Given the description of an element on the screen output the (x, y) to click on. 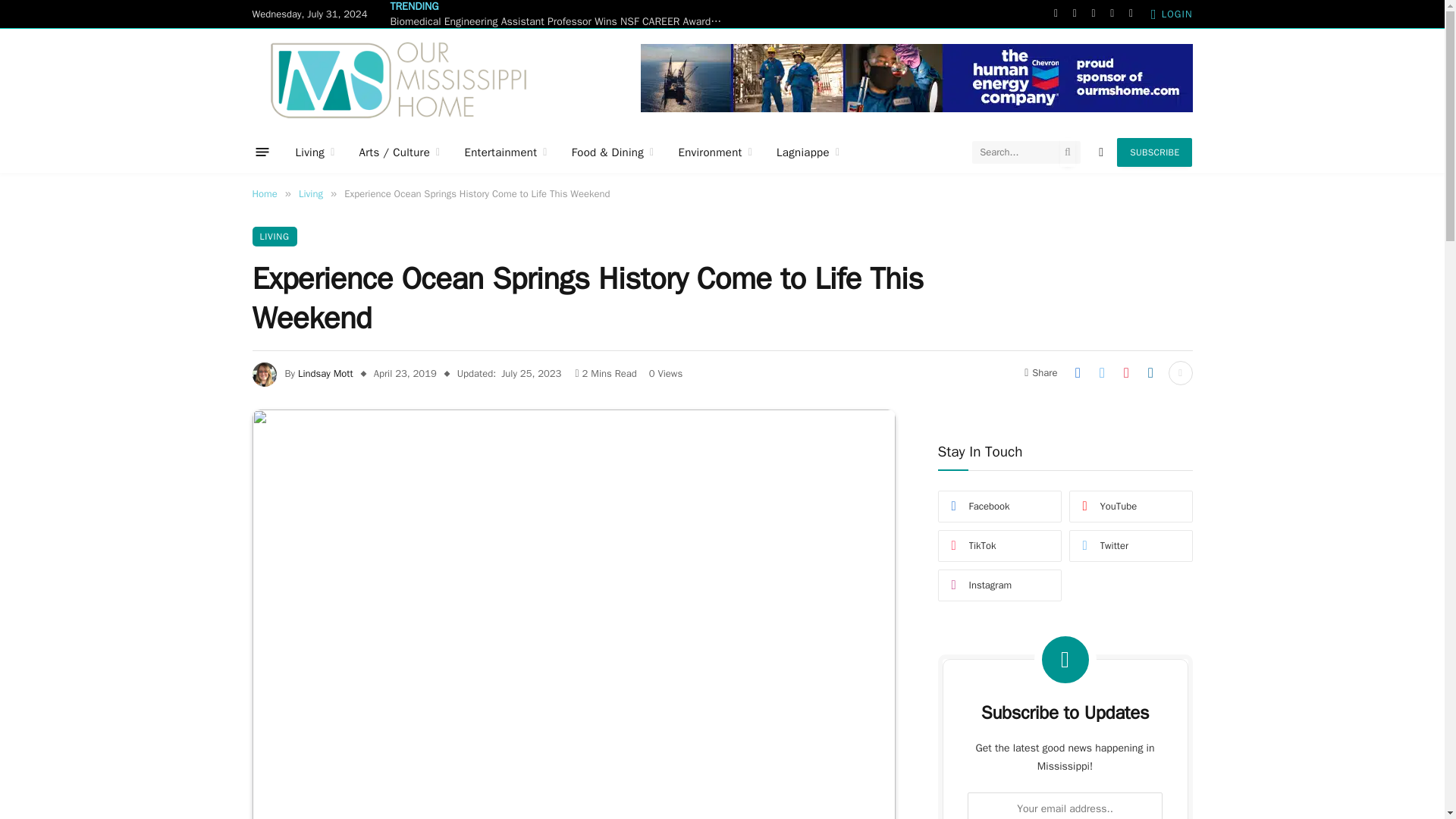
Living (315, 151)
LOGIN (1171, 13)
Our Mississippi Home (397, 79)
